Given the description of an element on the screen output the (x, y) to click on. 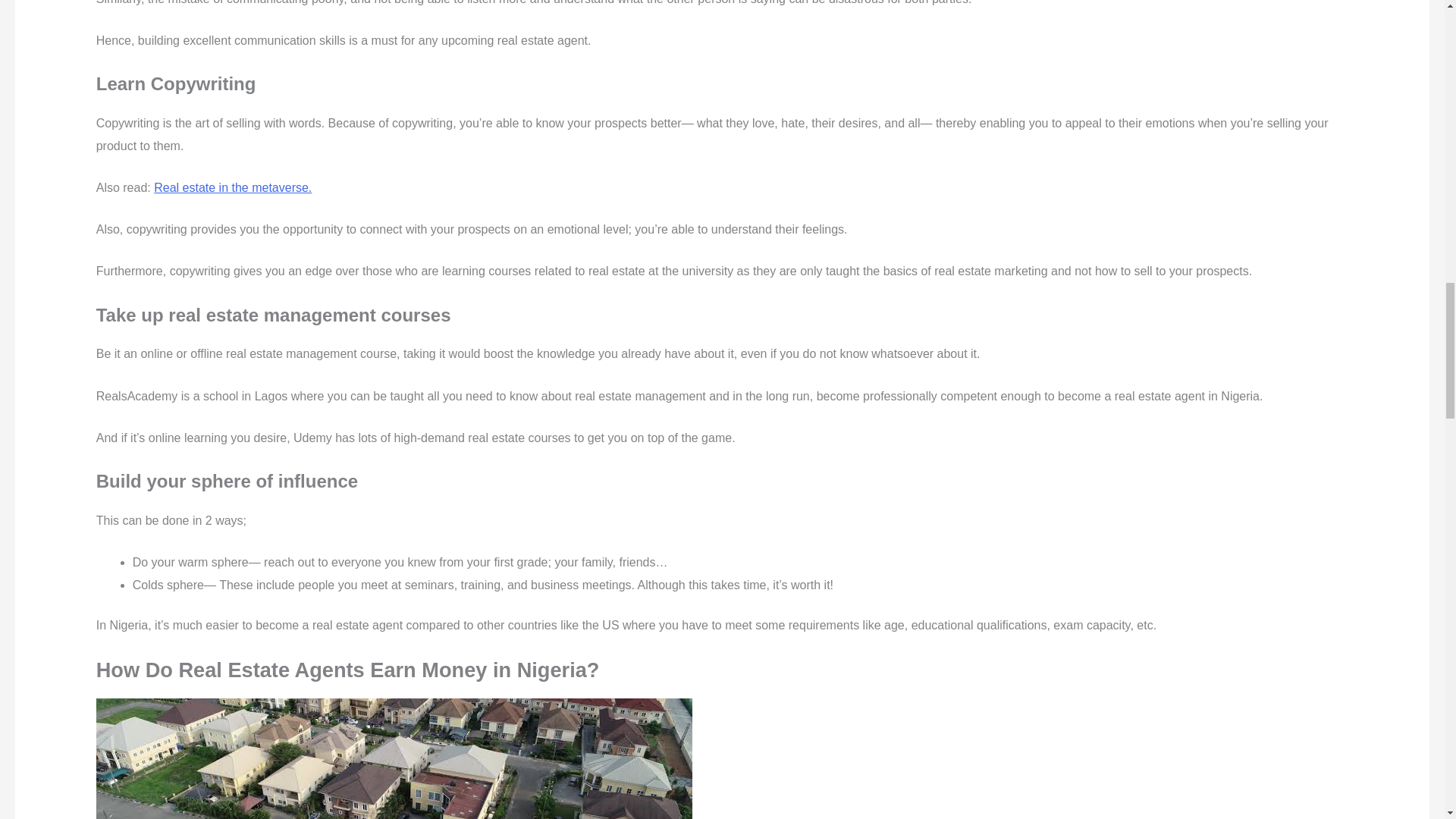
Real estate in the metaverse. (232, 187)
